Given the description of an element on the screen output the (x, y) to click on. 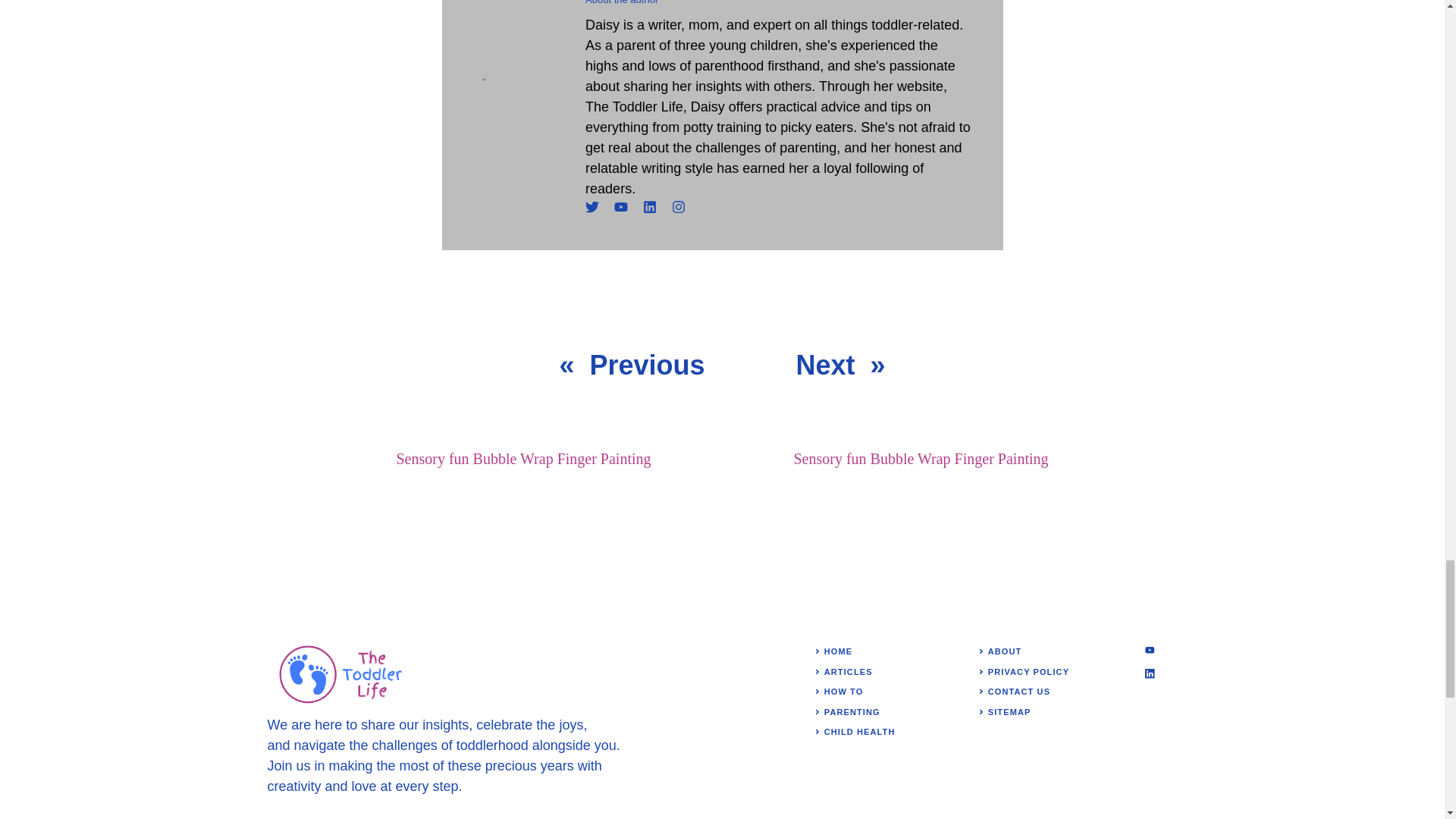
HOME (837, 651)
blue and purple logo (342, 673)
CHILD HEALTH (859, 731)
Previous (646, 364)
HOW TO (843, 691)
ABOUT (1005, 651)
Next (824, 364)
ARTICLES (848, 671)
PARENTING (852, 711)
